Given the description of an element on the screen output the (x, y) to click on. 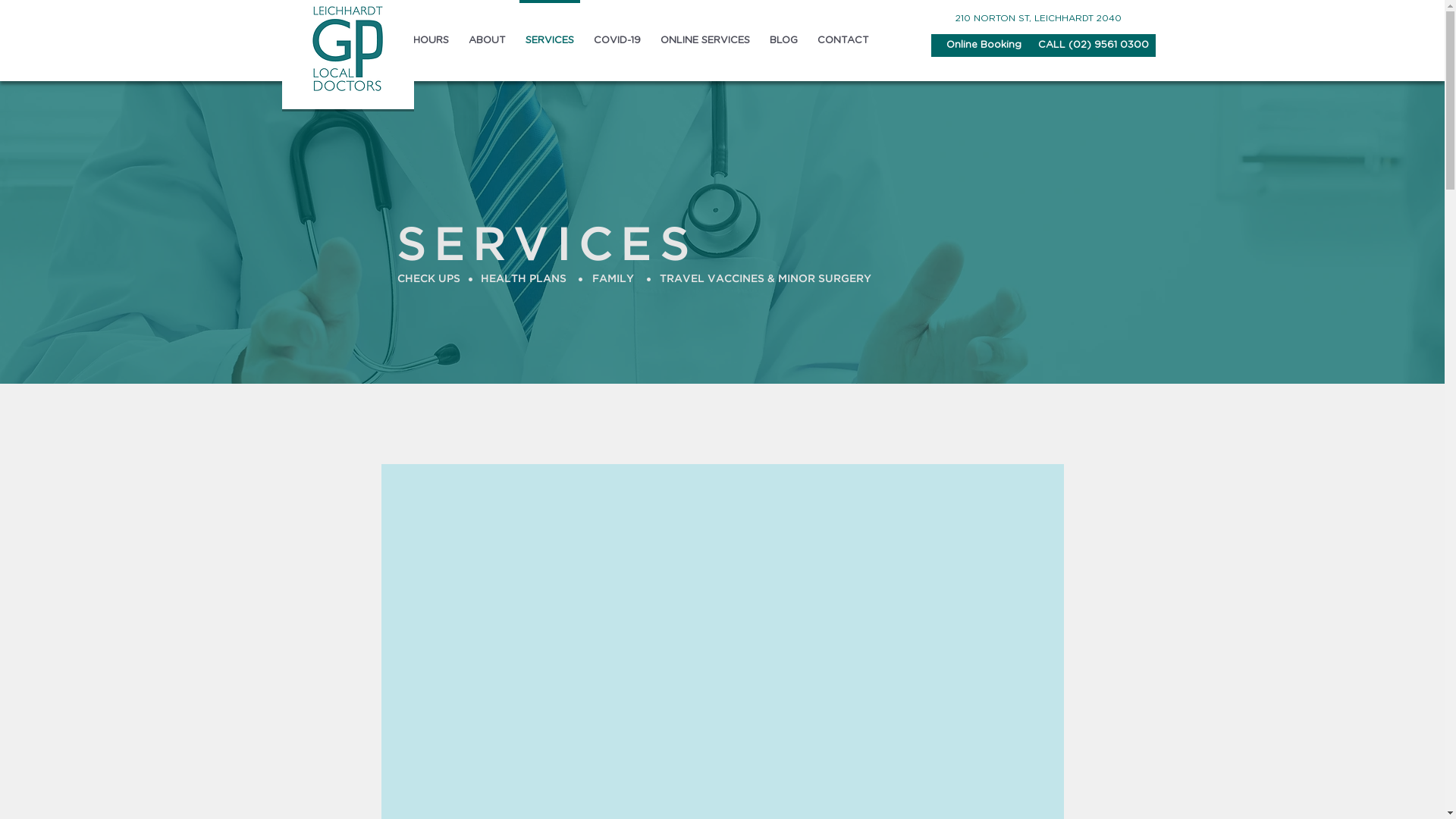
AFTER HOURS Element type: text (412, 34)
FAMILY Element type: text (613, 279)
CHECK UPS Element type: text (427, 279)
CALL (02) 9561 0300 Element type: text (1093, 45)
HEALTH PLANS Element type: text (523, 279)
COVID-19 Element type: text (616, 34)
BLOG Element type: text (783, 34)
ONLINE SERVICES Element type: text (704, 34)
SERVICES Element type: text (549, 34)
TRAVEL VACCINES & MINOR SURGERY Element type: text (765, 279)
Online Booking Element type: text (984, 45)
